Given the description of an element on the screen output the (x, y) to click on. 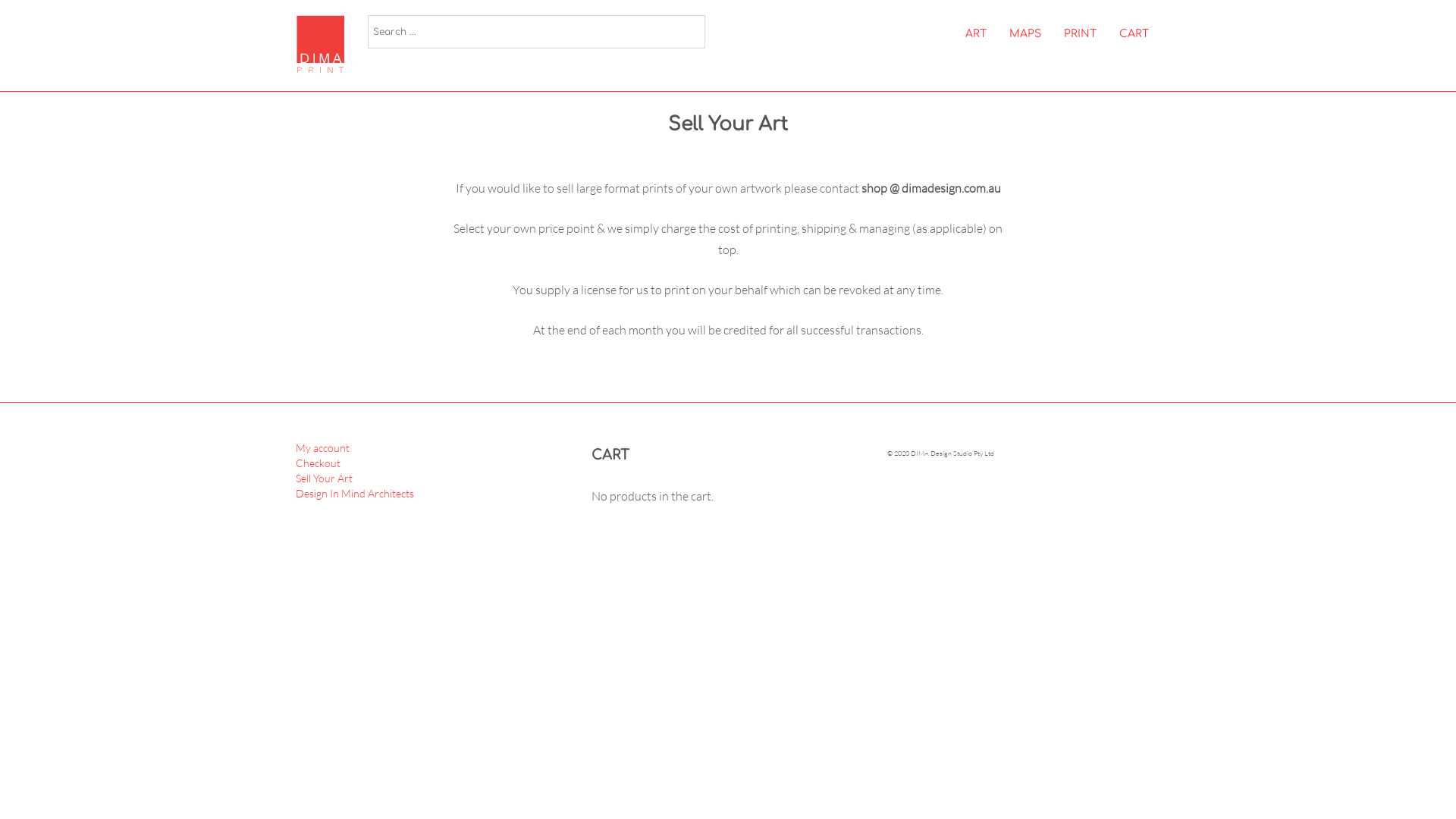
Checkout Element type: text (317, 462)
DIMA Print Shop Element type: hover (325, 44)
PRINT Element type: text (1079, 34)
ART Element type: text (975, 34)
MAPS Element type: text (1024, 34)
Design In Mind Architects Element type: text (354, 492)
CART Element type: text (1133, 34)
My account Element type: text (322, 447)
Sell Your Art Element type: text (323, 477)
